Given the description of an element on the screen output the (x, y) to click on. 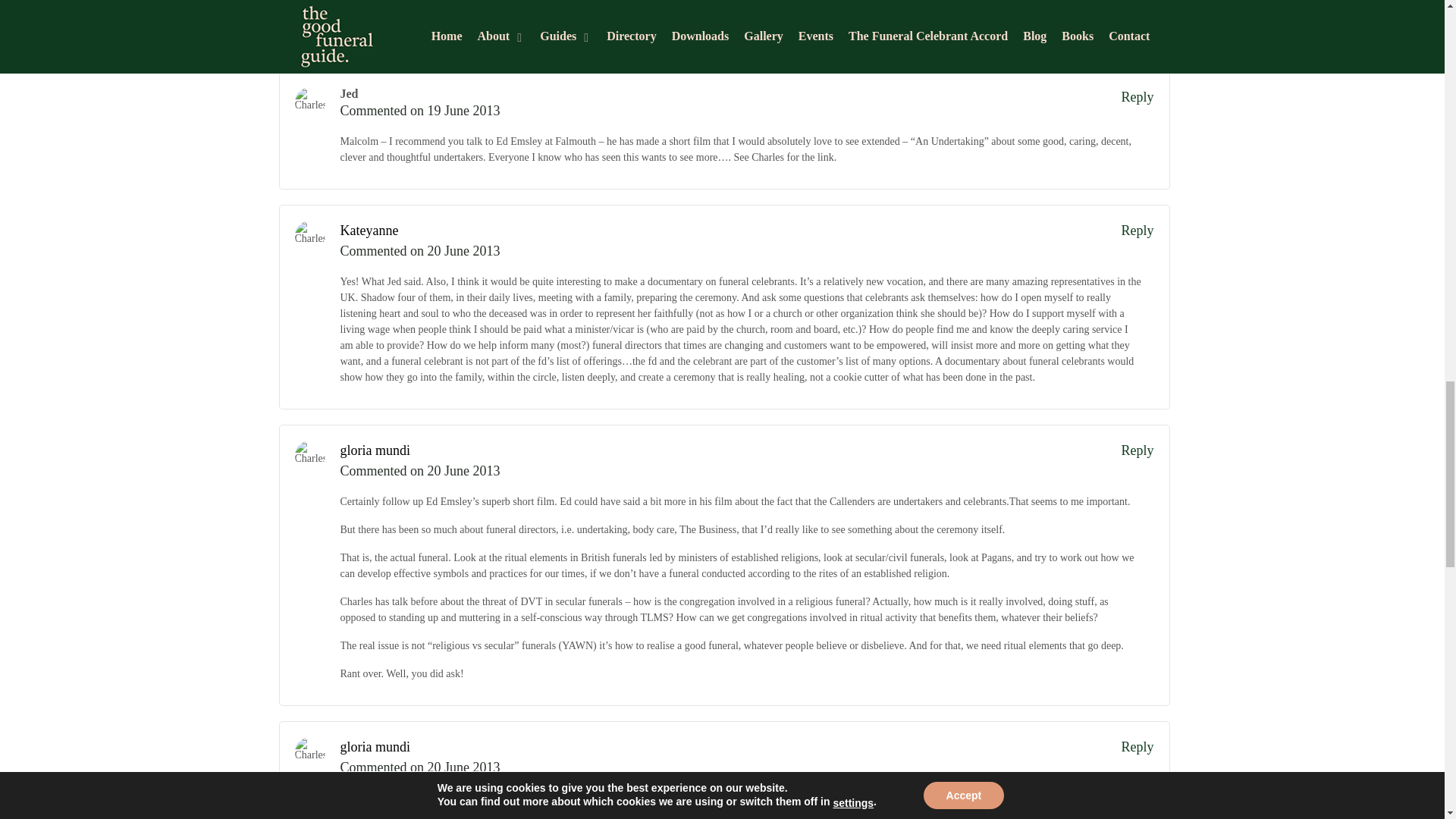
Charles (309, 752)
Charles (309, 455)
Charles (309, 235)
Charles (309, 101)
